Given the description of an element on the screen output the (x, y) to click on. 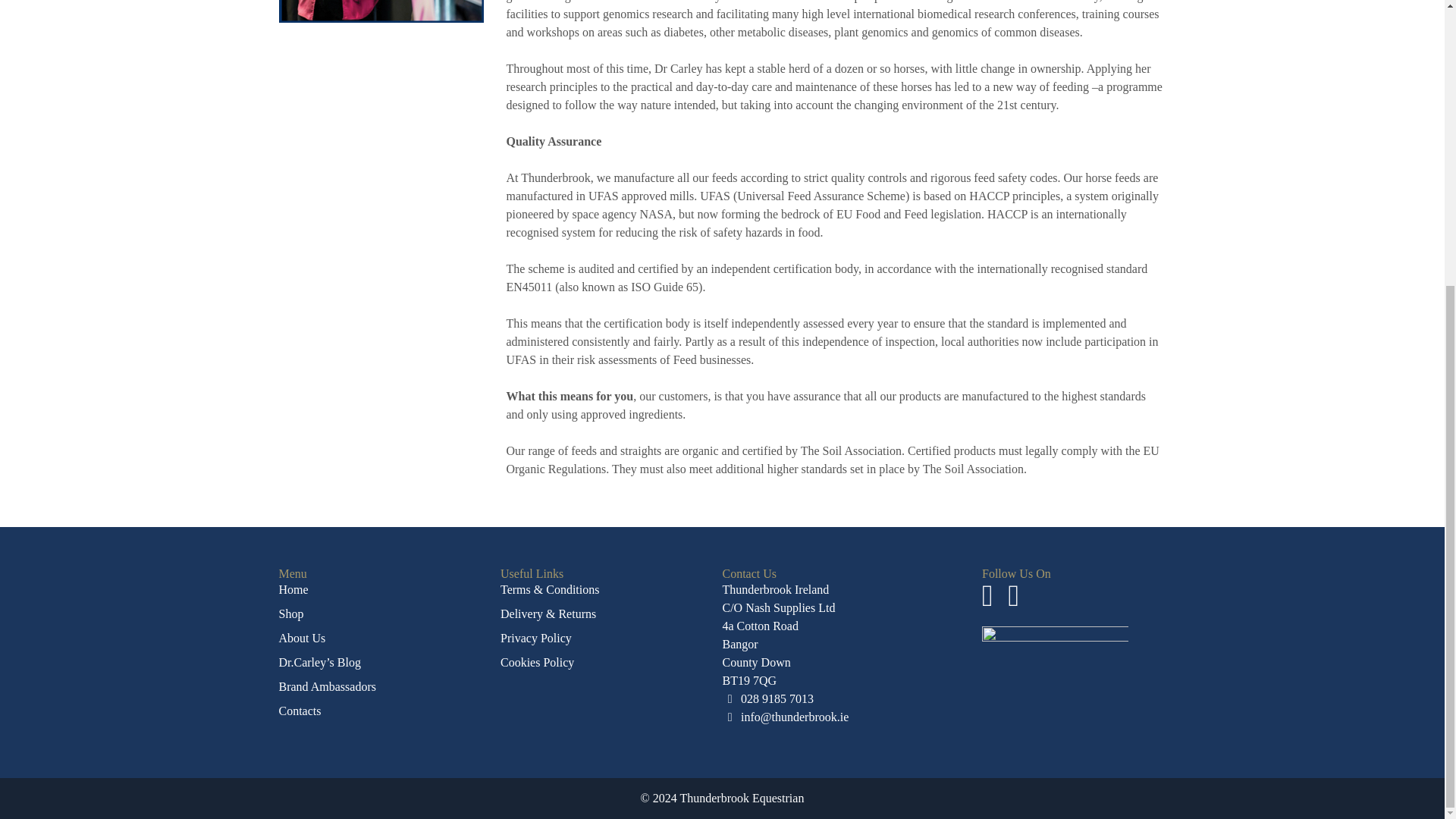
Shop (291, 613)
Thunderbrook Equestrian (741, 797)
Home (293, 589)
